Given the description of an element on the screen output the (x, y) to click on. 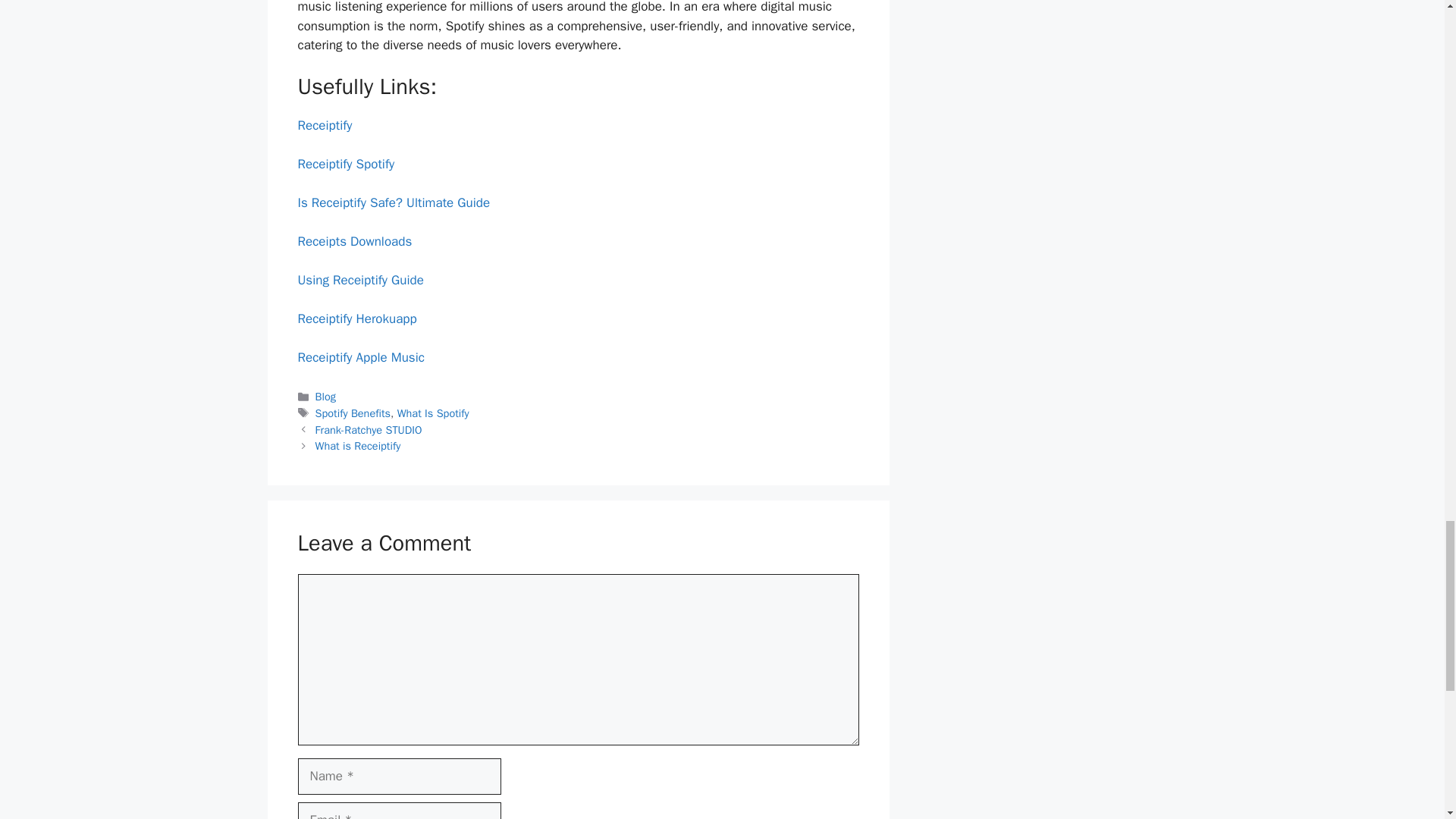
Using Receiptify Guide (360, 279)
Spotify Benefits (352, 413)
Receiptify Apple Music (360, 357)
Receiptify (324, 125)
Is Receiptify Safe? Ultimate Guide (393, 202)
Receiptify Spotify (345, 163)
Receiptify Herokuapp (356, 318)
What is Receiptify (358, 445)
Receipts Downloads (354, 241)
What Is Spotify (432, 413)
